Given the description of an element on the screen output the (x, y) to click on. 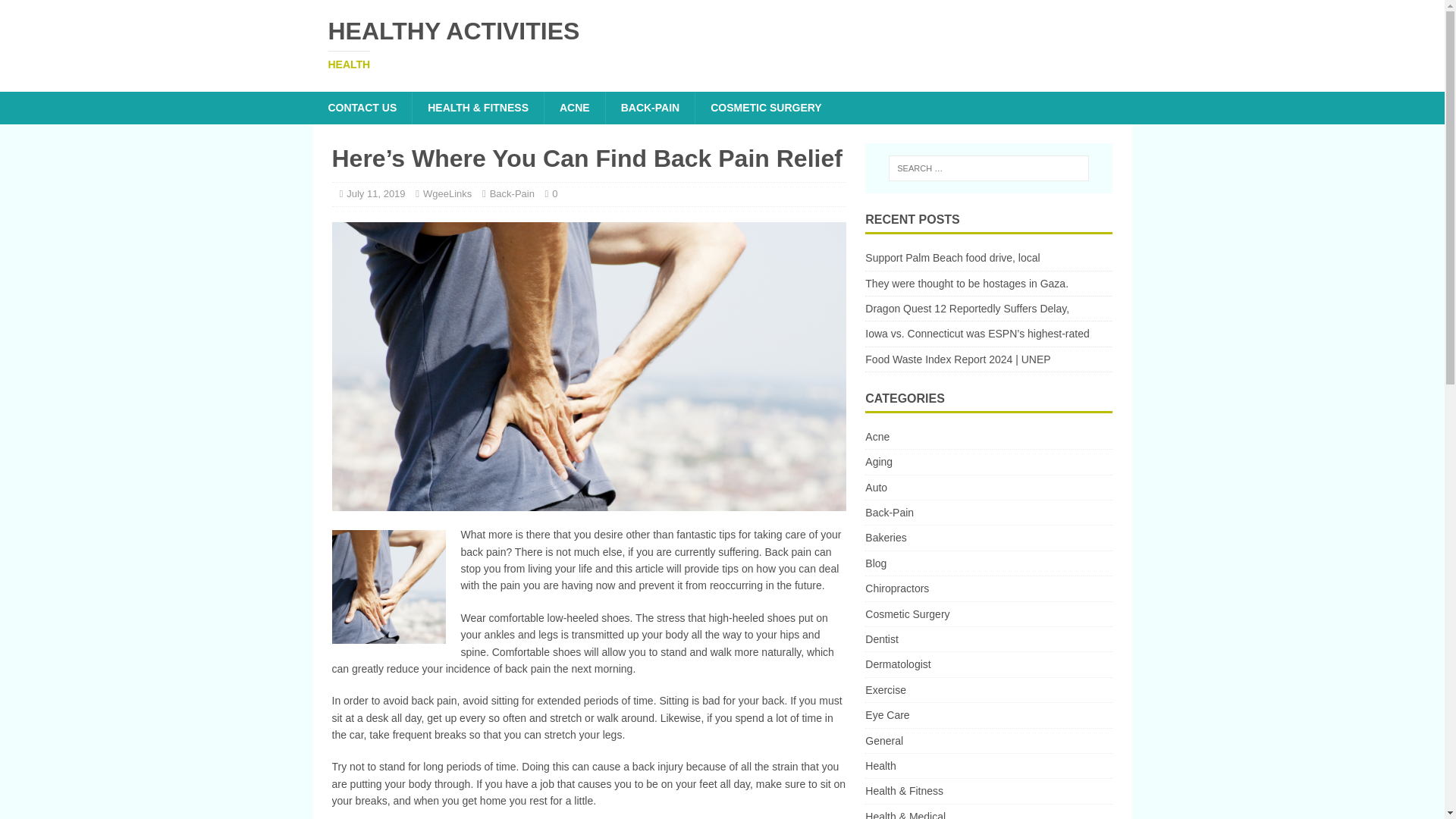
Search (56, 11)
Support Palm Beach food drive, local (951, 257)
BACK-PAIN (721, 44)
Dentist (650, 107)
Aging (988, 639)
ACNE (988, 461)
Dragon Quest 12 Reportedly Suffers Delay, (574, 107)
General (966, 308)
They were thought to be hostages in Gaza. (988, 740)
Healthy Activities (966, 283)
Eye Care (721, 44)
Chiropractors (988, 714)
July 11, 2019 (988, 588)
